Given the description of an element on the screen output the (x, y) to click on. 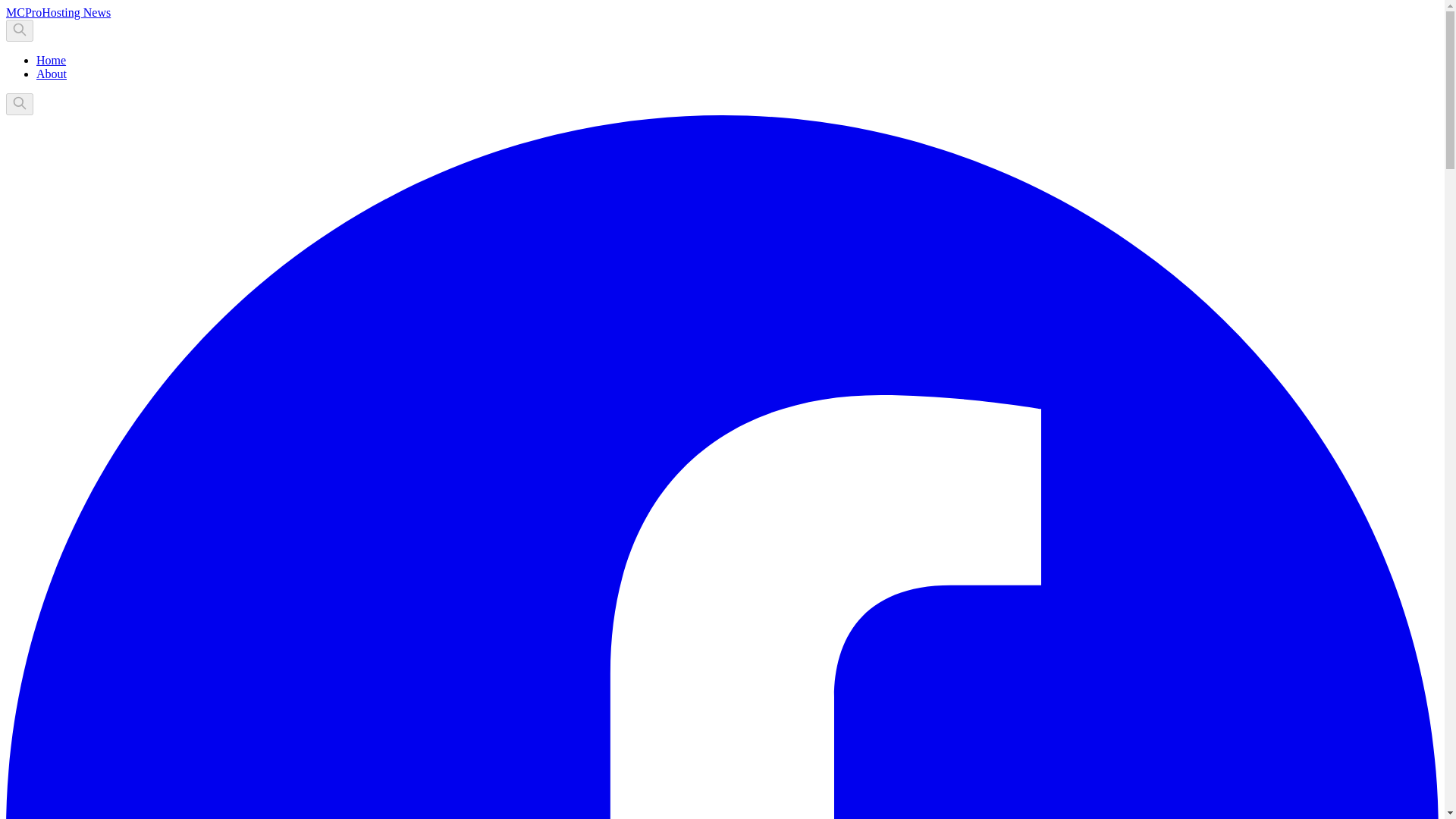
About (51, 73)
MCProHosting News (57, 11)
Home (50, 60)
